Given the description of an element on the screen output the (x, y) to click on. 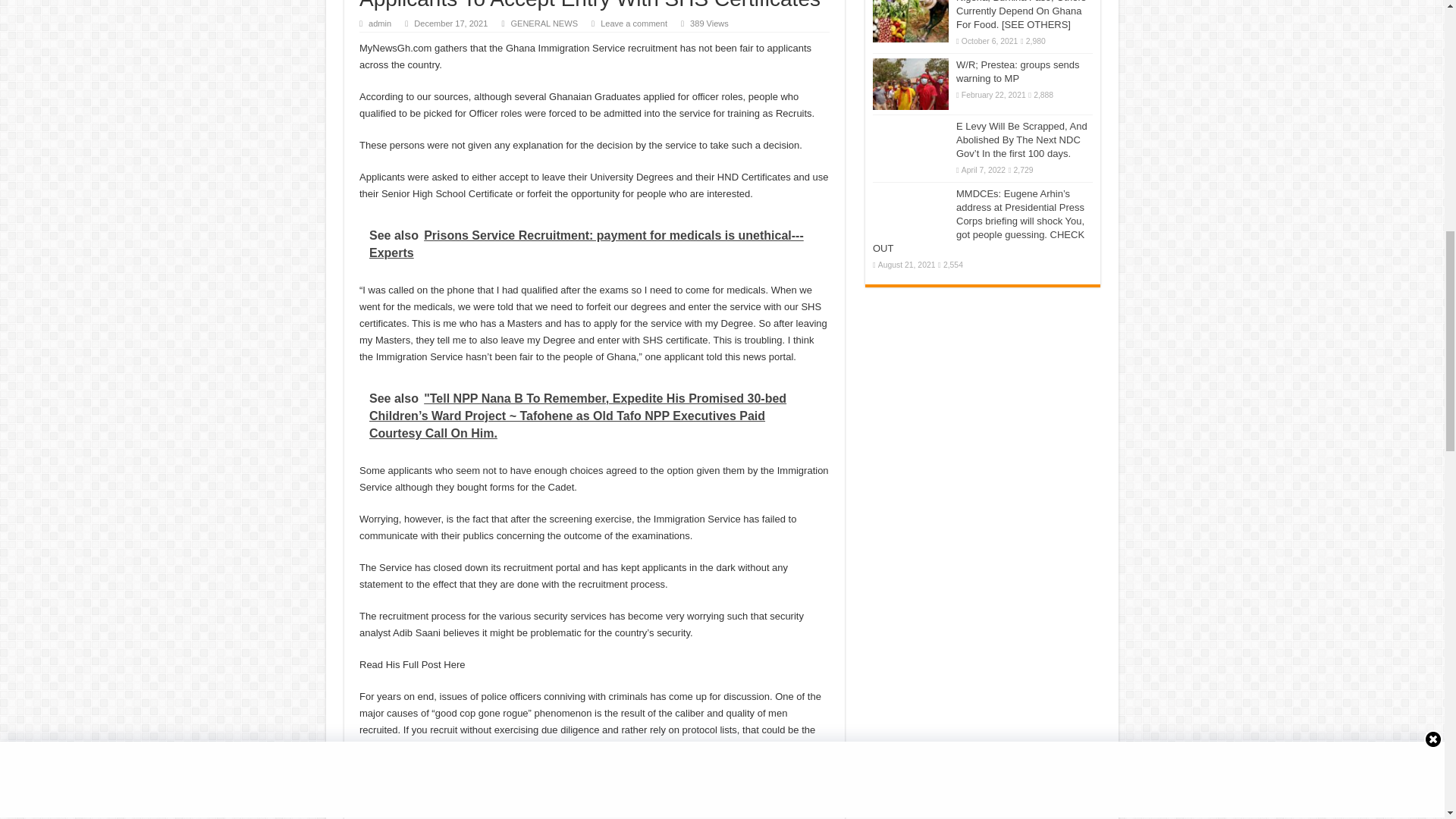
GENERAL NEWS (544, 22)
Leave a comment (632, 22)
admin (379, 22)
